Given the description of an element on the screen output the (x, y) to click on. 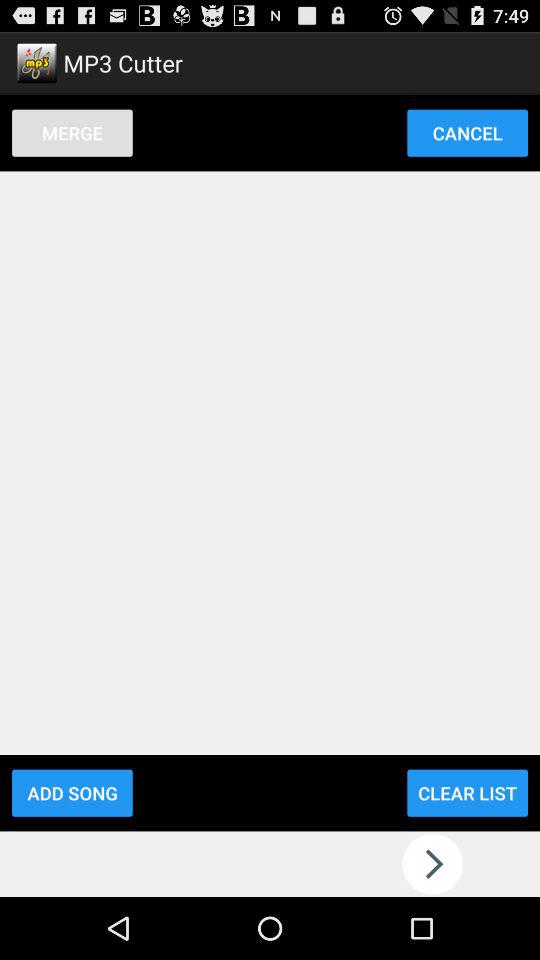
choose the button above the add song (72, 132)
